Given the description of an element on the screen output the (x, y) to click on. 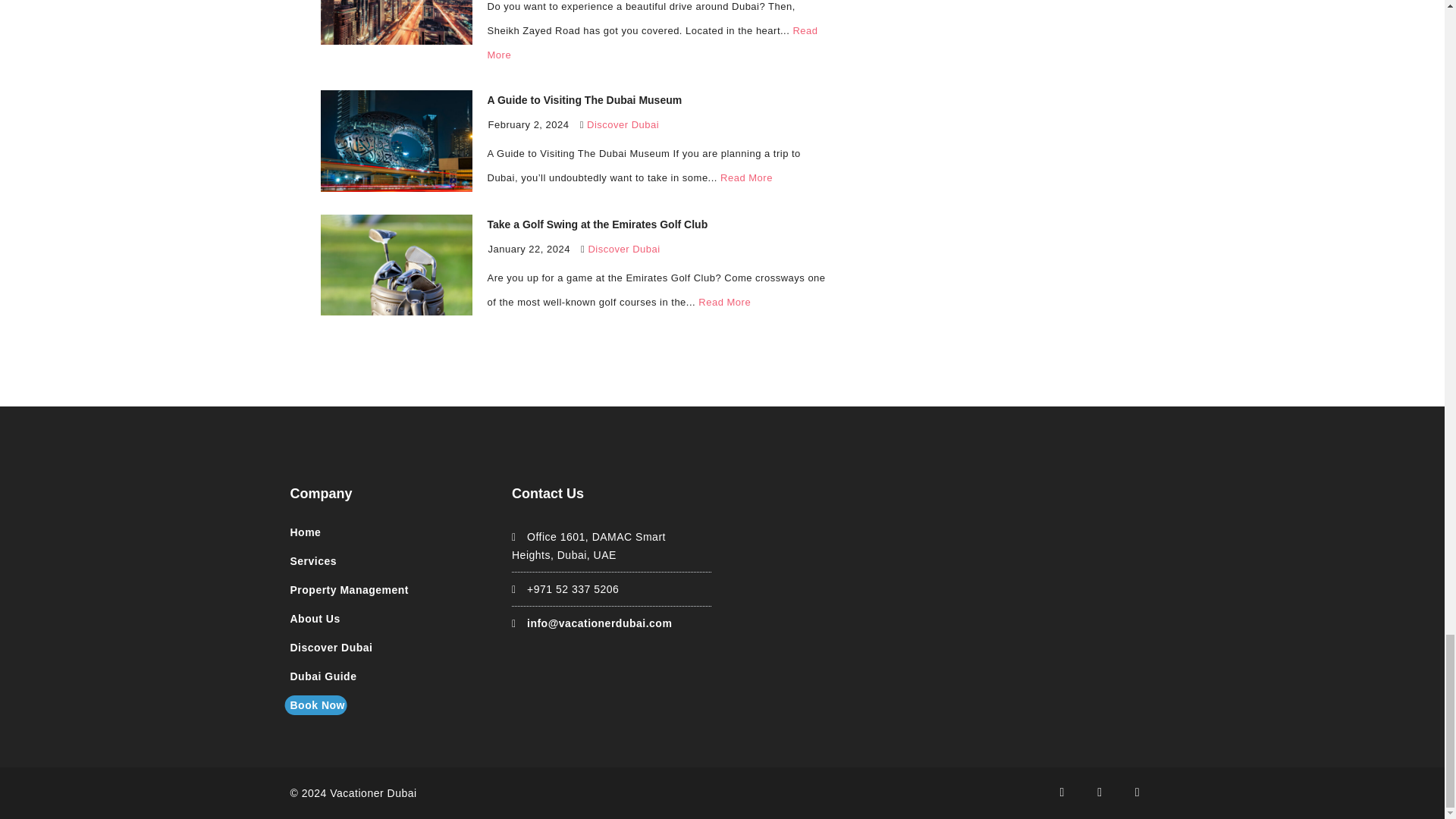
Discover Dubai (623, 248)
Read More (746, 177)
Discover Dubai (622, 124)
Read More (651, 42)
Read More (724, 301)
